Given the description of an element on the screen output the (x, y) to click on. 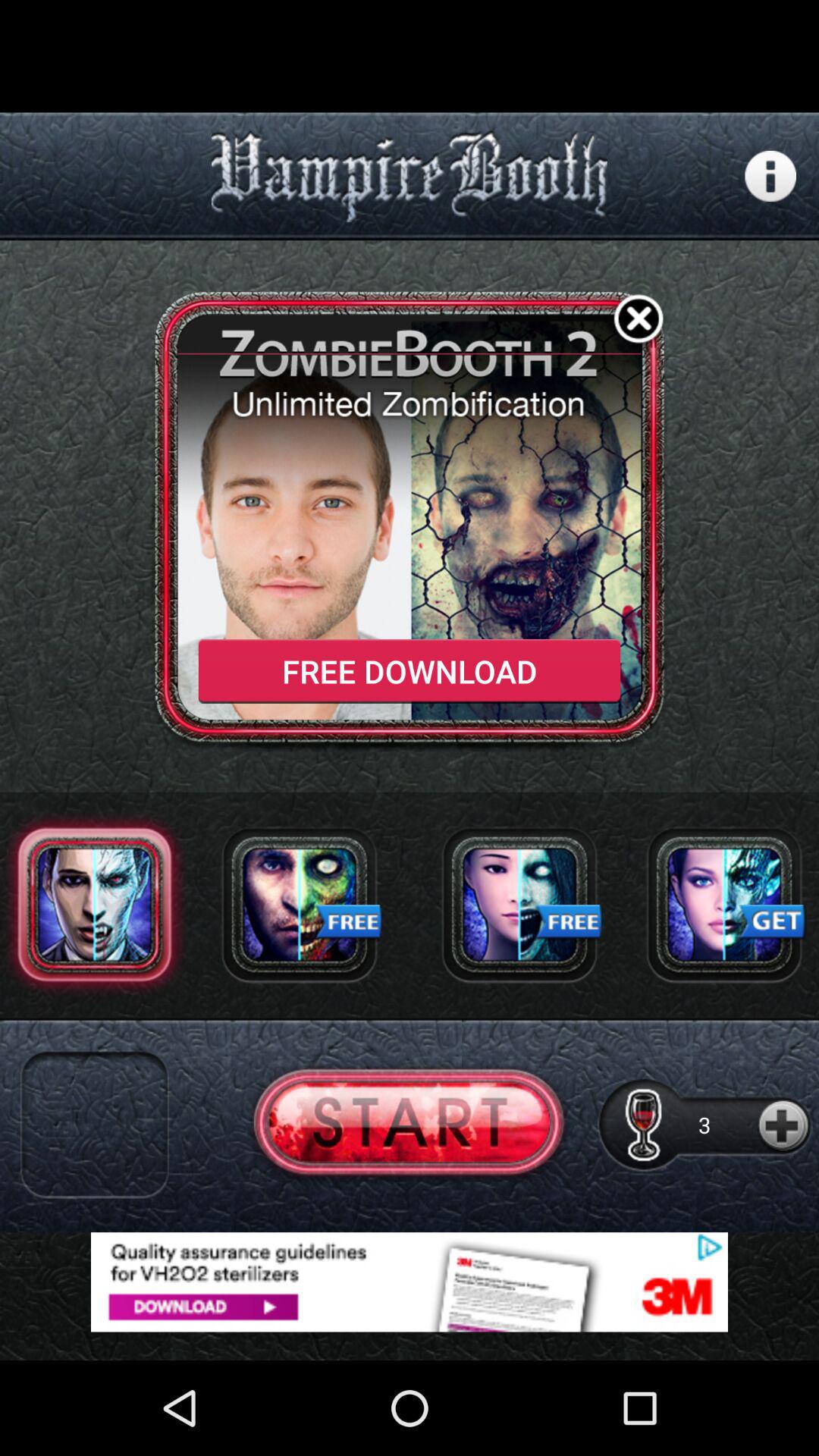
get app open (724, 904)
